Given the description of an element on the screen output the (x, y) to click on. 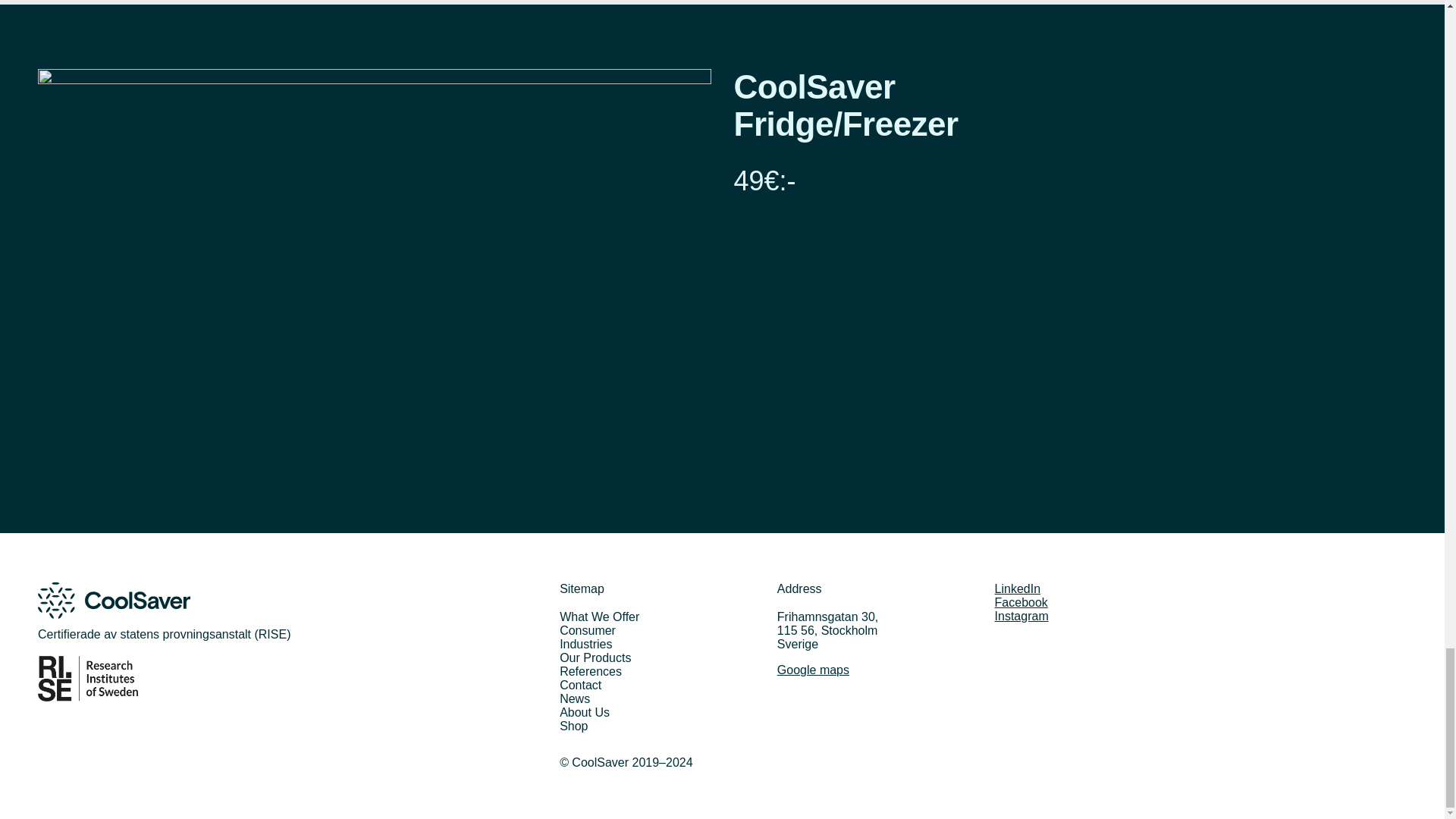
News (574, 698)
Instagram (1021, 615)
About Us (584, 712)
Industries (585, 644)
Shop (573, 725)
References (590, 671)
LinkedIn (1017, 588)
Google maps (812, 669)
Contact (580, 684)
Consumer (587, 630)
Facebook (1021, 602)
What We Offer (599, 616)
Our Products (594, 657)
